Given the description of an element on the screen output the (x, y) to click on. 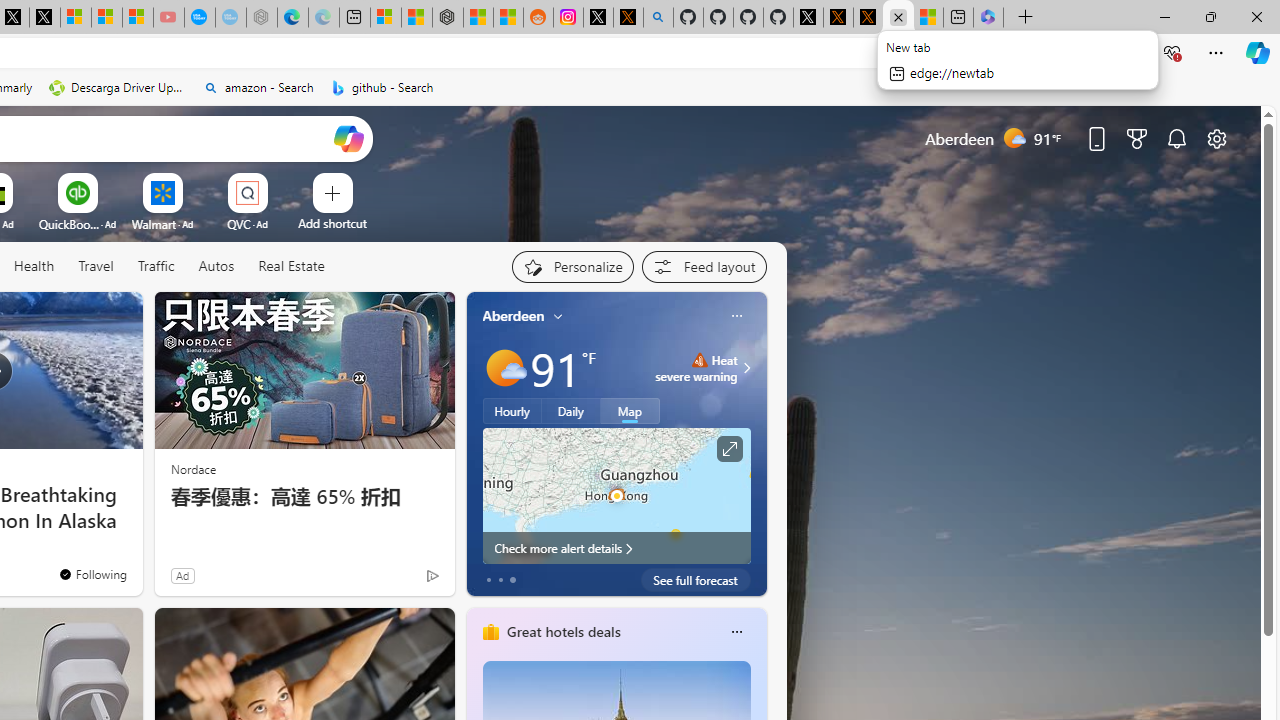
Open Copilot (347, 138)
